Given the description of an element on the screen output the (x, y) to click on. 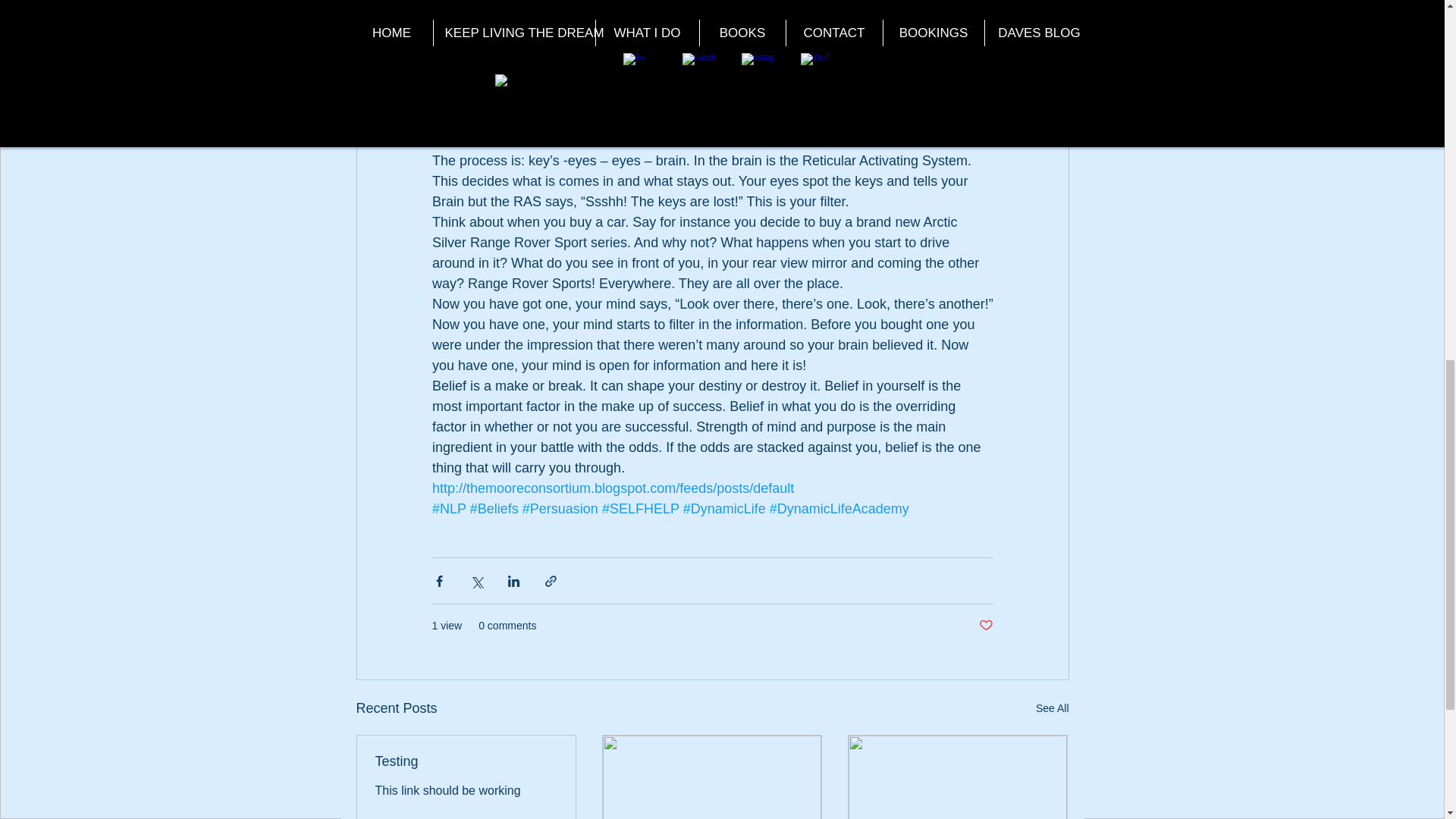
Post not marked as liked (985, 625)
See All (1051, 708)
Testing (465, 761)
